Given the description of an element on the screen output the (x, y) to click on. 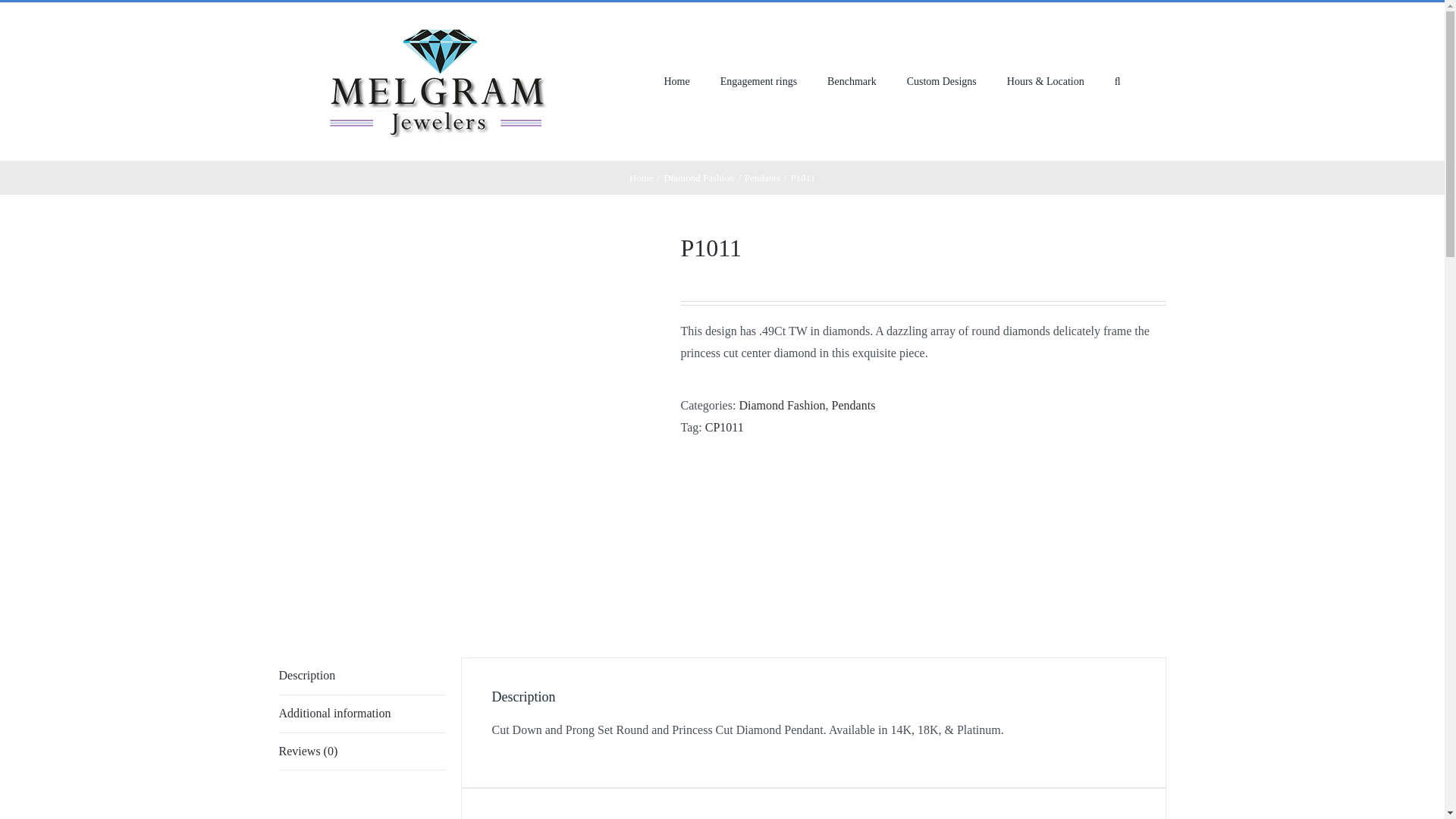
Additional information (362, 714)
CP1011 (724, 427)
Pendants (762, 177)
Description (362, 676)
Diamond Fashion (698, 177)
Home (640, 177)
Pendants (853, 404)
Diamond Fashion (781, 404)
